Given the description of an element on the screen output the (x, y) to click on. 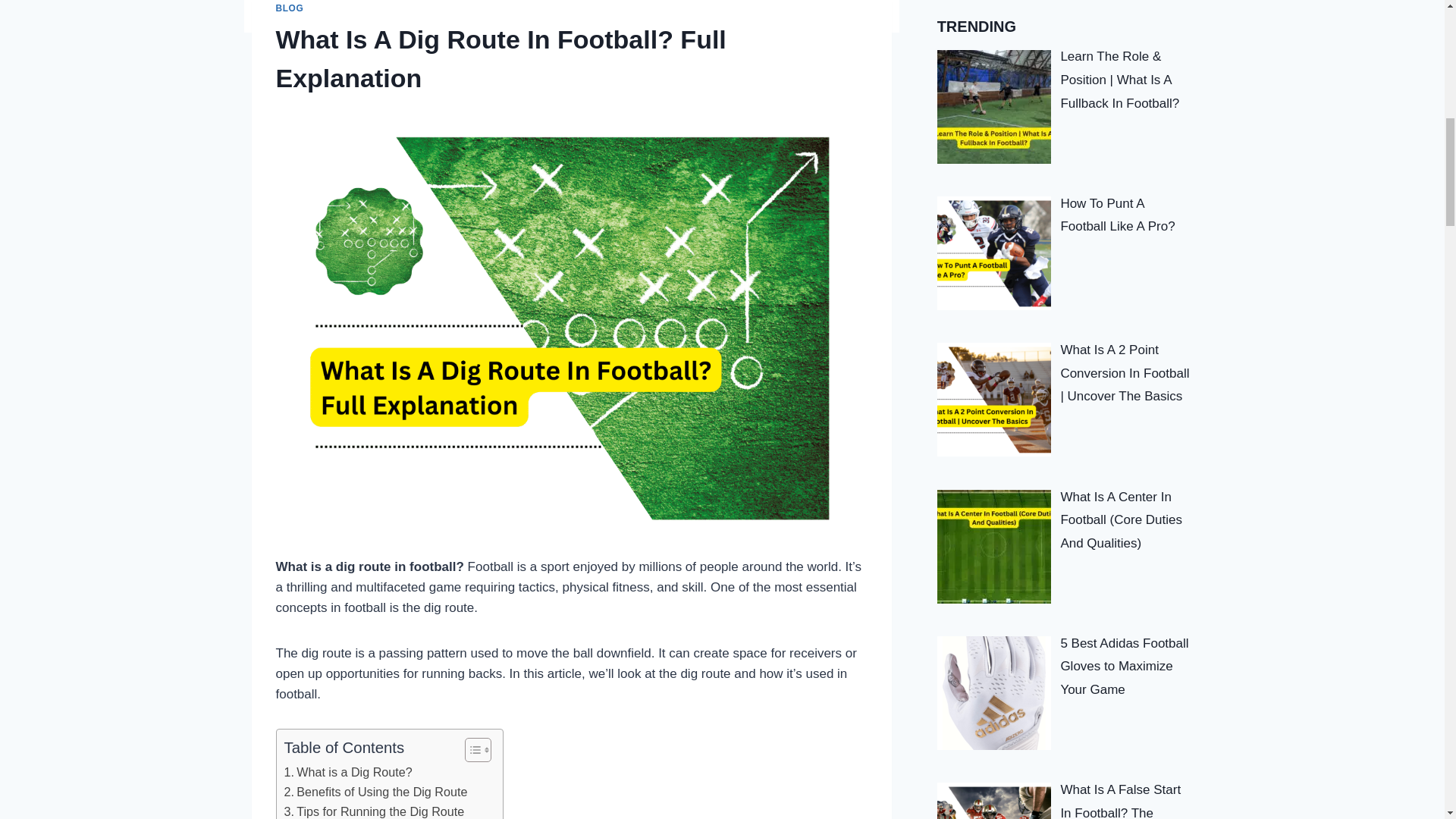
Benefits of Using the Dig Route (375, 792)
BLOG (290, 8)
What is a Dig Route? (347, 772)
Benefits of Using the Dig Route (375, 792)
Tips for Running the Dig Route (373, 810)
Tips for Running the Dig Route (373, 810)
What is a Dig Route? (347, 772)
